Given the description of an element on the screen output the (x, y) to click on. 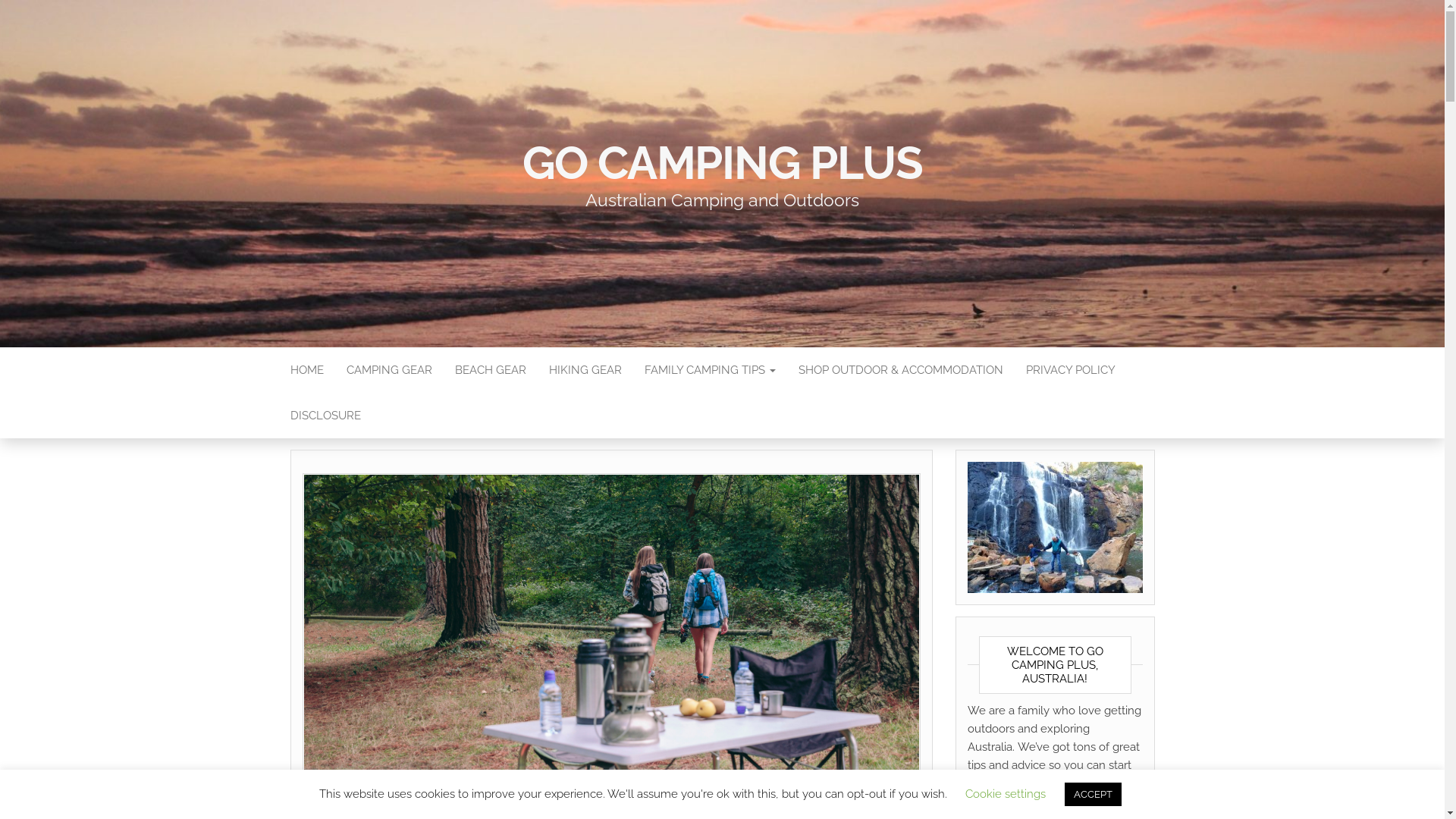
Cookie settings Element type: text (1005, 793)
Accept Element type: text (955, 795)
BEACH GEAR Element type: text (489, 369)
HIKING GEAR Element type: text (584, 369)
GO CAMPING PLUS Element type: text (721, 162)
ACCEPT Element type: text (1092, 794)
settings Element type: text (848, 802)
DISCLOSURE Element type: text (325, 415)
SHOP OUTDOOR & ACCOMMODATION Element type: text (900, 369)
CAMPING GEAR Element type: text (389, 369)
FAMILY CAMPING TIPS Element type: text (709, 369)
HOME Element type: text (307, 369)
PRIVACY POLICY Element type: text (1070, 369)
